Given the description of an element on the screen output the (x, y) to click on. 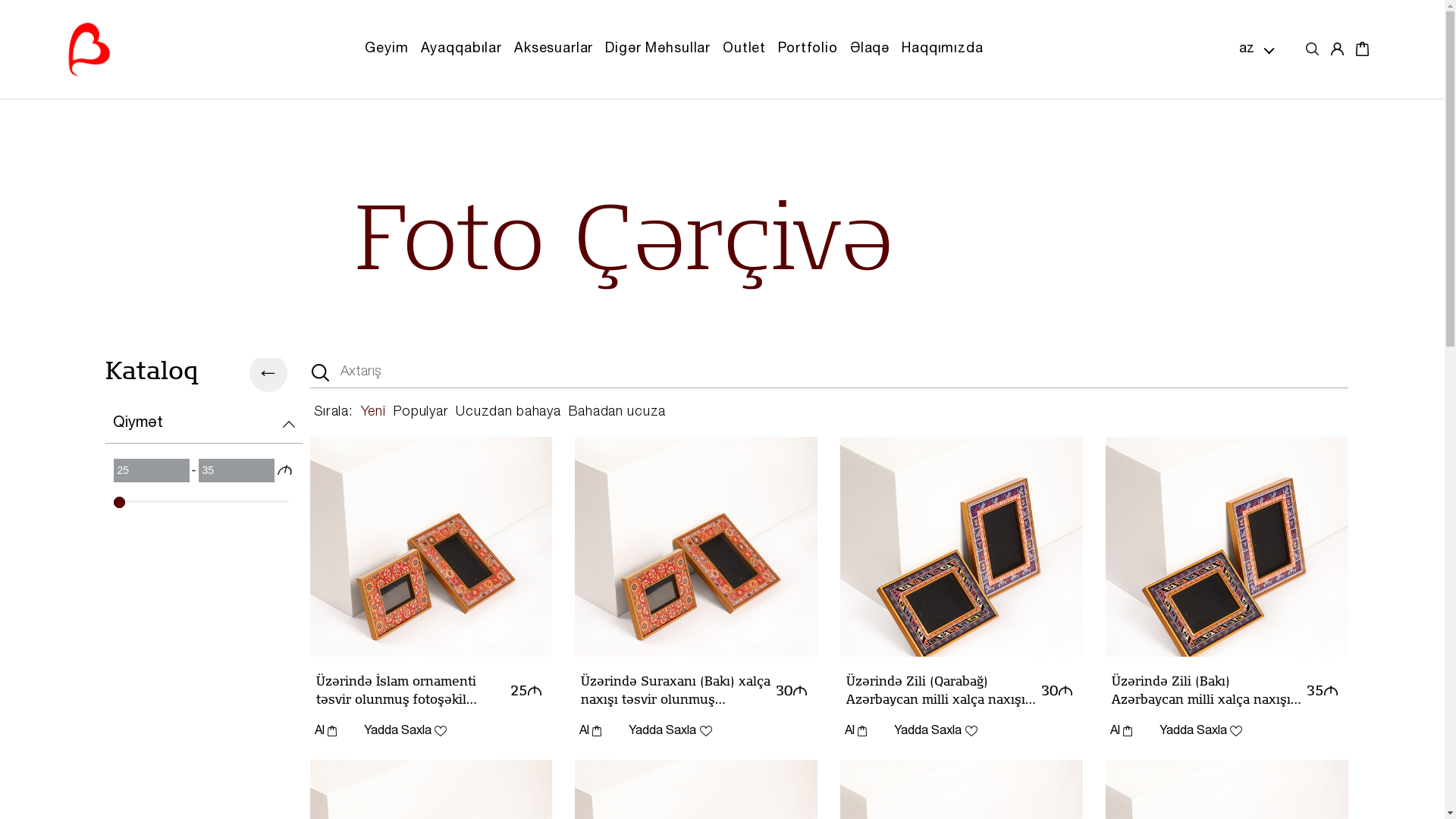
Geyim Element type: text (386, 48)
Yeni Element type: text (372, 412)
Al Element type: text (589, 730)
Yadda Saxla Element type: text (935, 730)
Outlet Element type: text (743, 48)
Al Element type: text (585, 729)
Al Element type: text (319, 729)
Yadda Saxla Element type: text (669, 730)
Bahadan ucuza Element type: text (617, 412)
Ucuzdan bahaya Element type: text (507, 412)
Yadda Saxla Element type: text (405, 730)
Yadda Saxla Element type: text (1200, 730)
Al Element type: text (324, 730)
Populyar Element type: text (420, 412)
Al Element type: text (850, 729)
Aksesuarlar Element type: text (553, 48)
Al Element type: text (855, 730)
Al Element type: text (1120, 730)
Al Element type: text (1116, 729)
Portfolio Element type: text (807, 48)
